Given the description of an element on the screen output the (x, y) to click on. 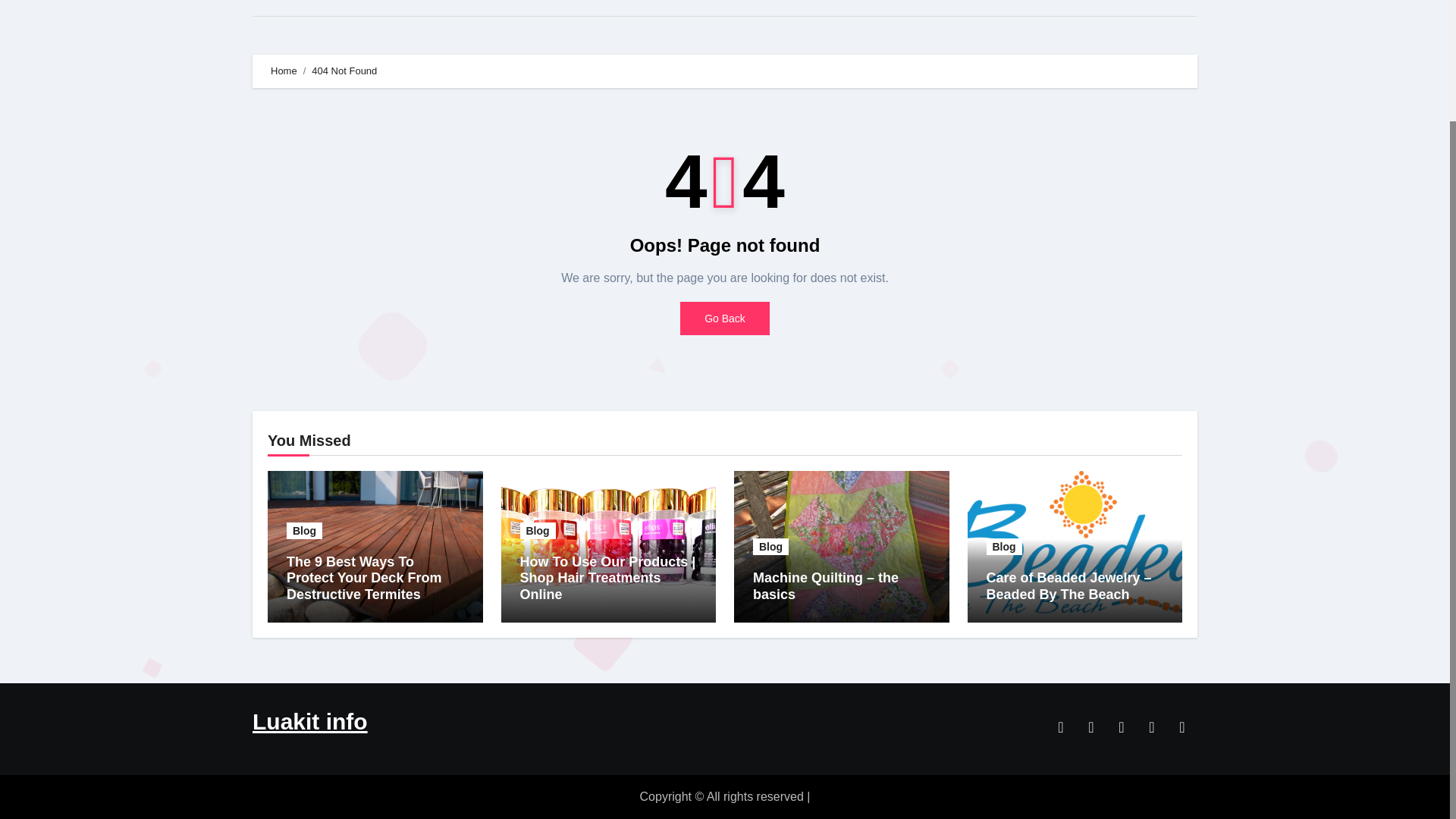
Blog (303, 530)
Blog (1003, 546)
Home (282, 7)
Home (282, 7)
Luakit info (309, 721)
Blog (537, 530)
Blog (770, 546)
Go Back (724, 318)
Home (283, 70)
